Given the description of an element on the screen output the (x, y) to click on. 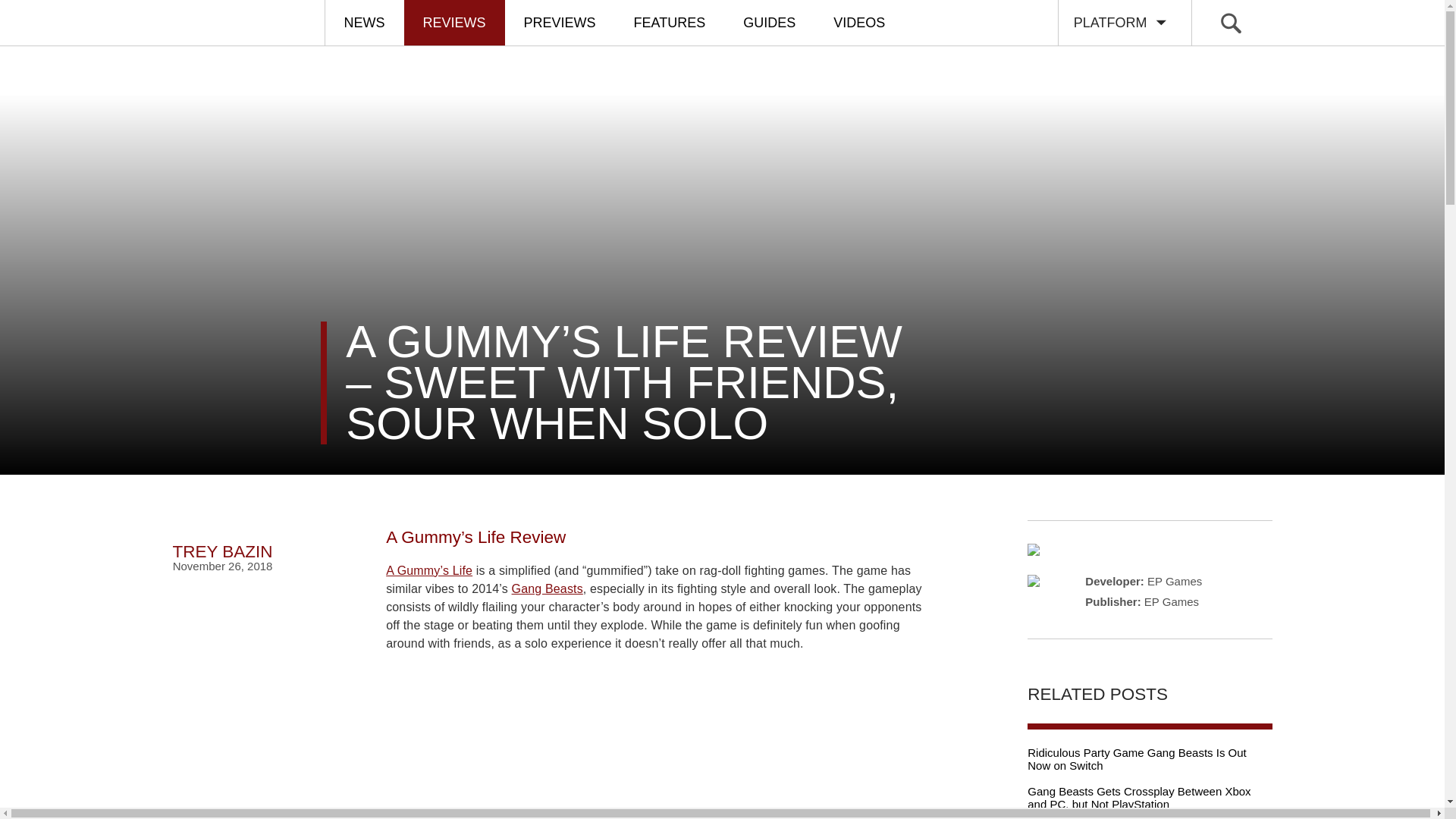
PLATFORM   (1124, 22)
